Given the description of an element on the screen output the (x, y) to click on. 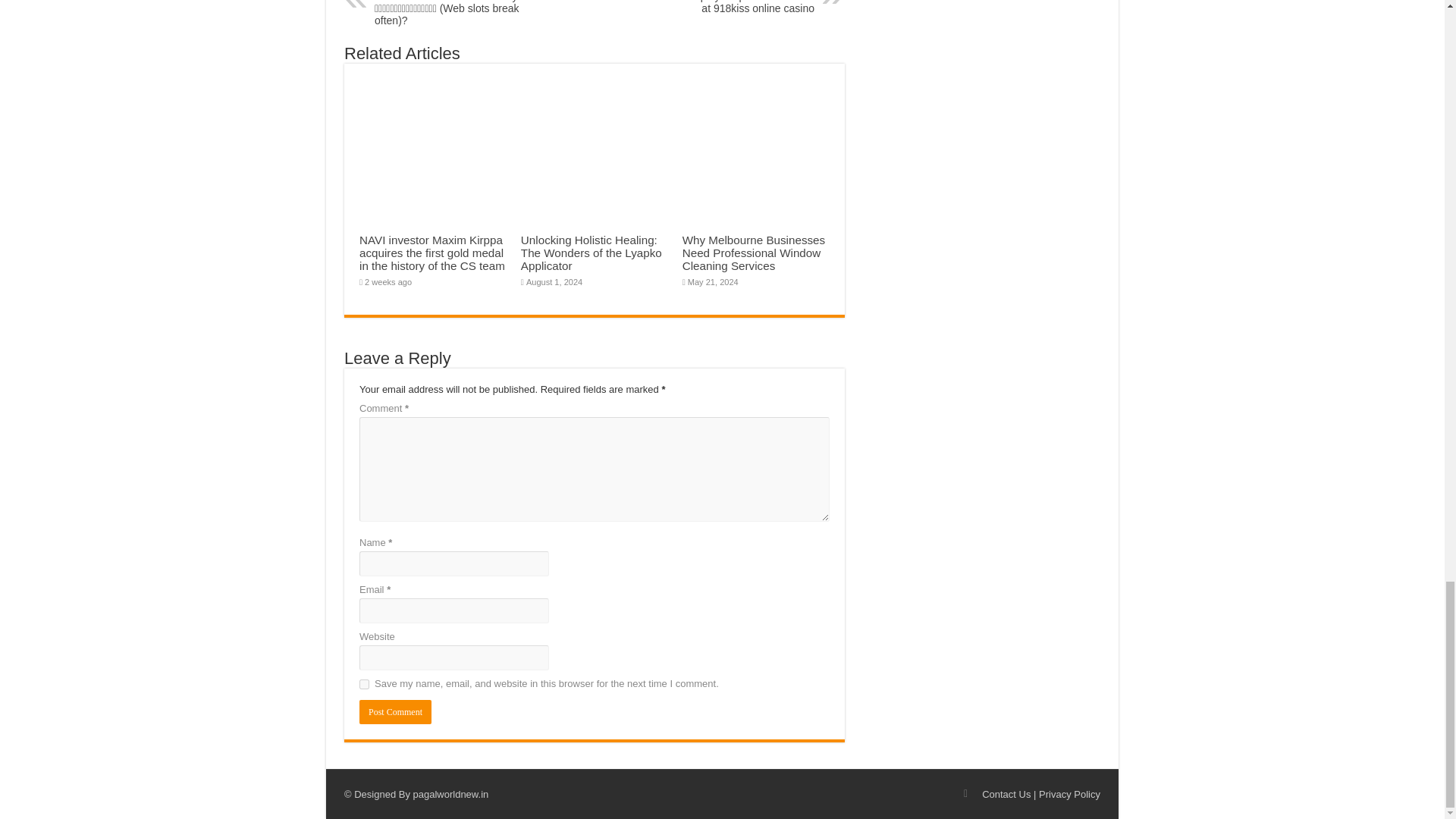
Post Comment (736, 7)
yes (394, 711)
